Given the description of an element on the screen output the (x, y) to click on. 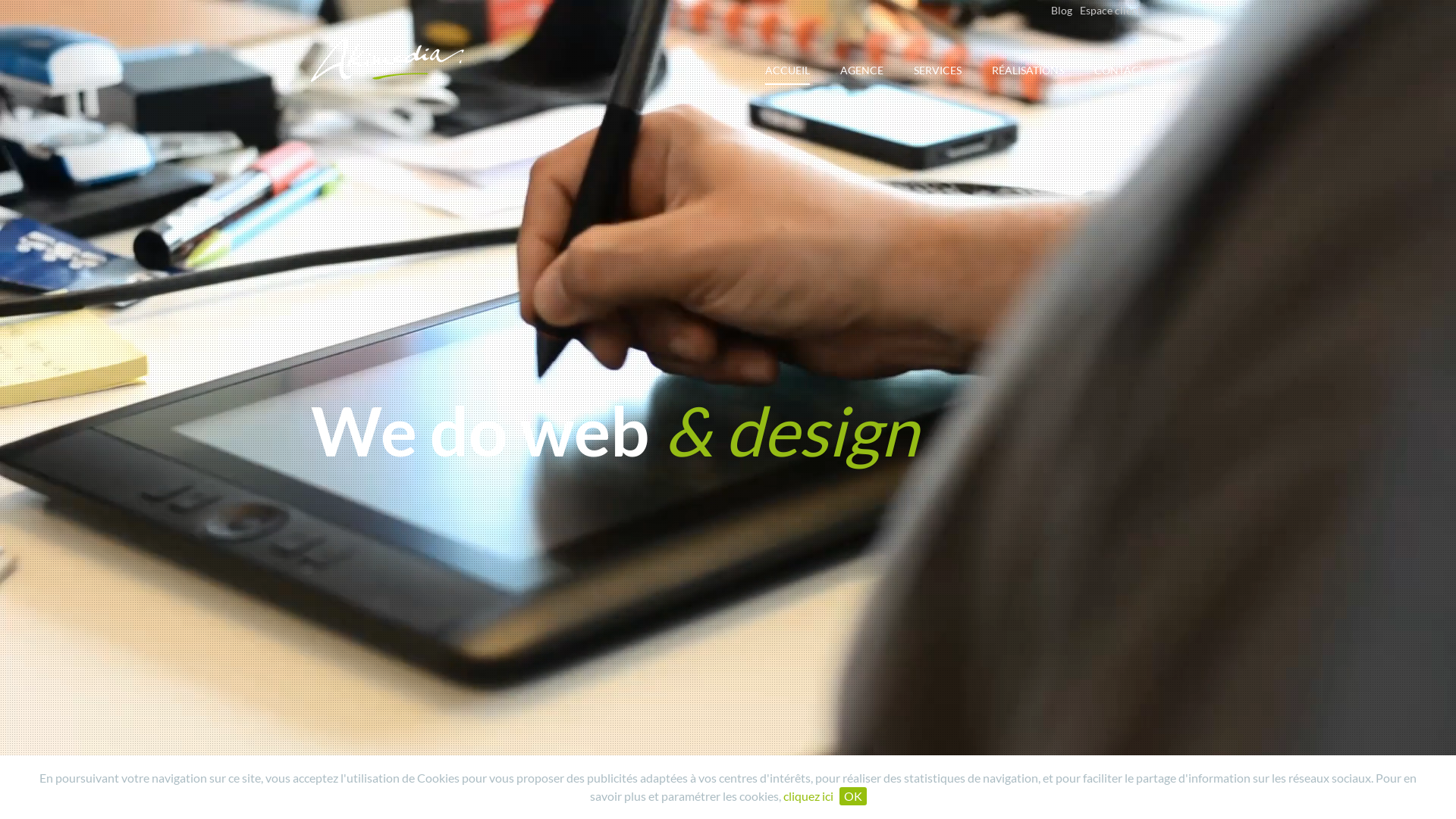
CONTACT Element type: text (1119, 78)
INFO@AKIMEDIA.BE Element type: text (354, 787)
ACCUEIL Element type: text (787, 73)
SERVICES Element type: text (937, 78)
Espace client Element type: text (1110, 10)
cliquez ici Element type: text (807, 795)
AGENCE Element type: text (861, 78)
Blog Element type: text (1061, 10)
OK Element type: text (852, 796)
